Given the description of an element on the screen output the (x, y) to click on. 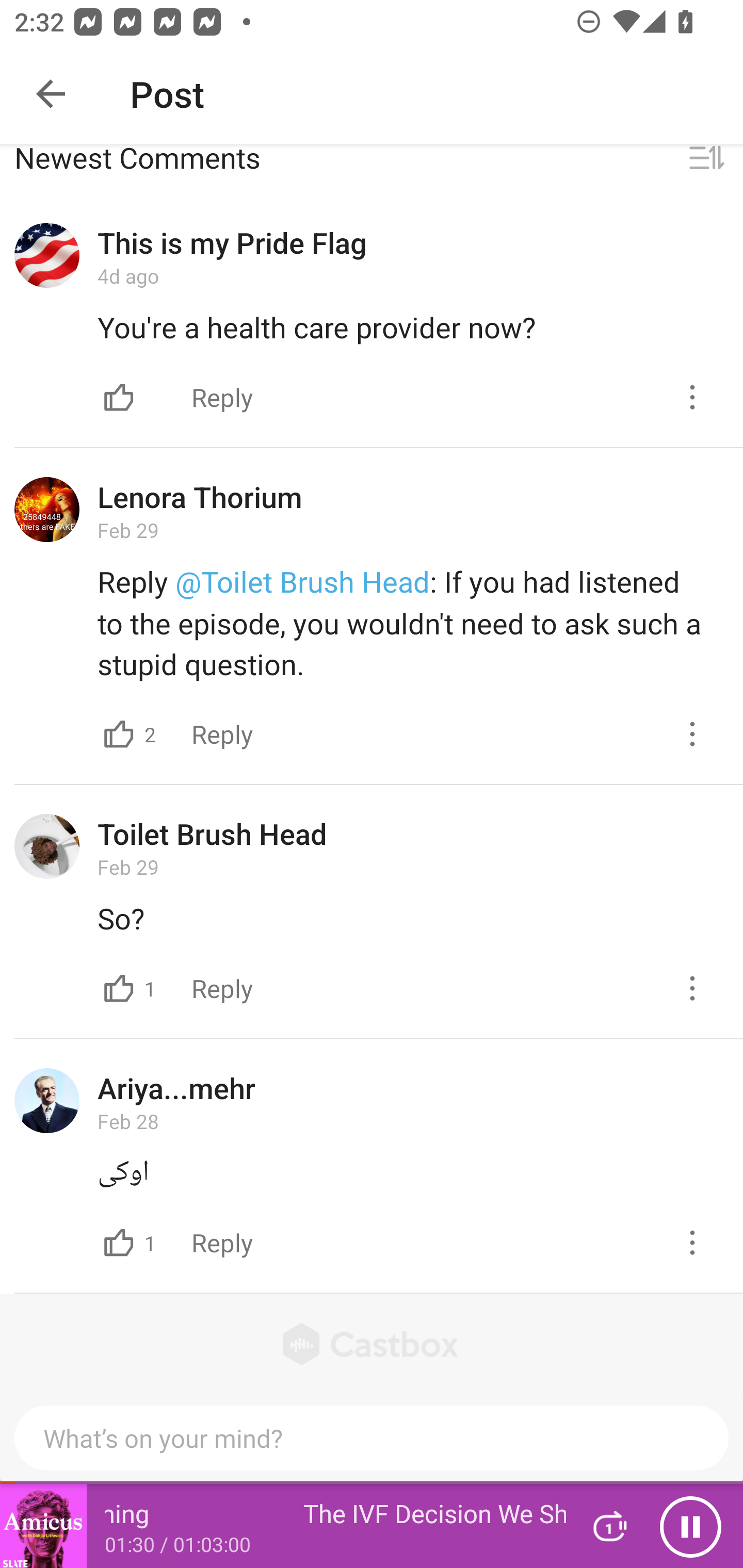
Navigate up (50, 93)
 (706, 161)
 (119, 397)
 (692, 397)
Reply (221, 396)
 (119, 733)
 (692, 733)
Reply (221, 733)
 (119, 988)
 (692, 988)
Reply (221, 987)
 (119, 1242)
 (692, 1242)
Reply (221, 1241)
What’s on your mind? (371, 1437)
Pause (690, 1526)
